Given the description of an element on the screen output the (x, y) to click on. 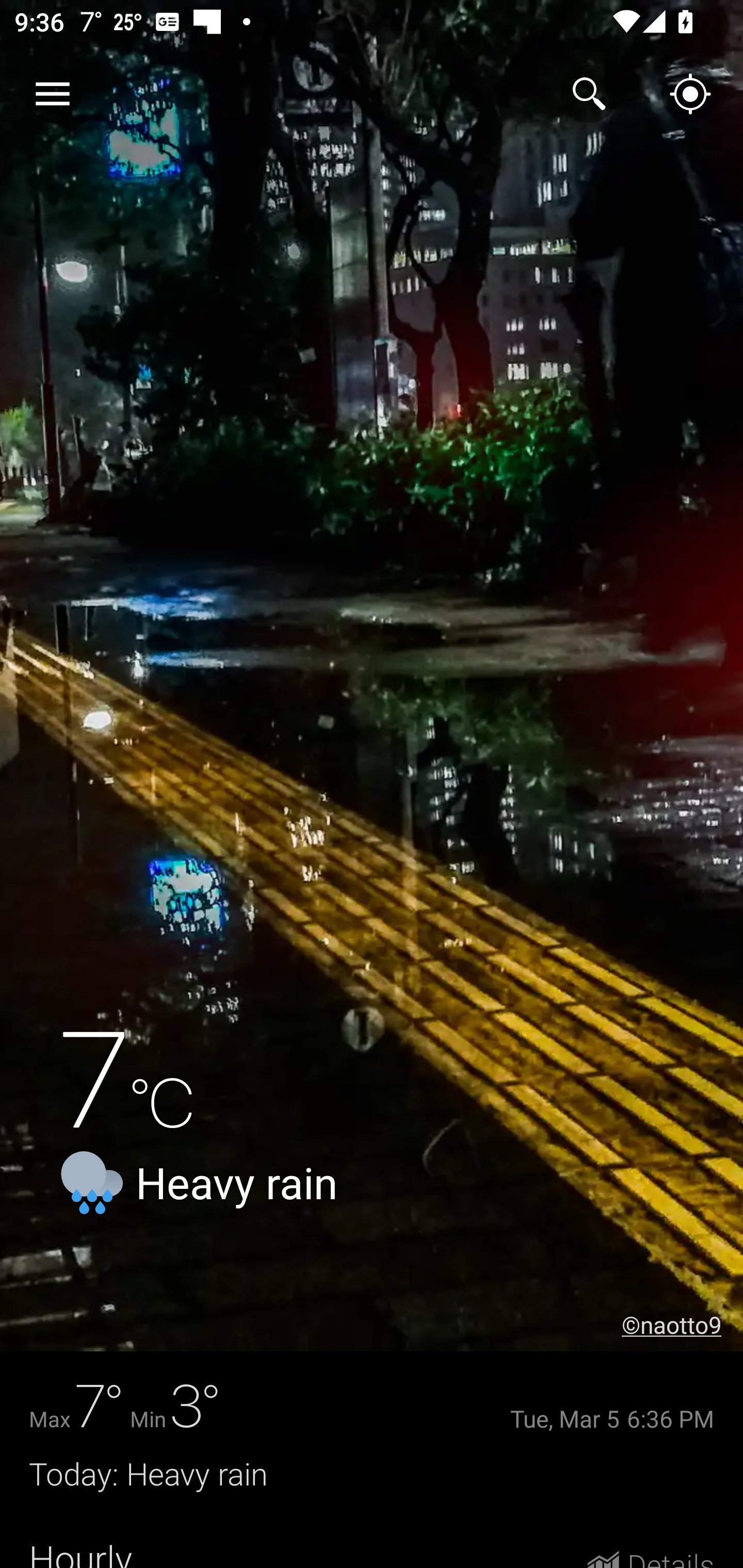
©naotto9 (682, 1324)
